Given the description of an element on the screen output the (x, y) to click on. 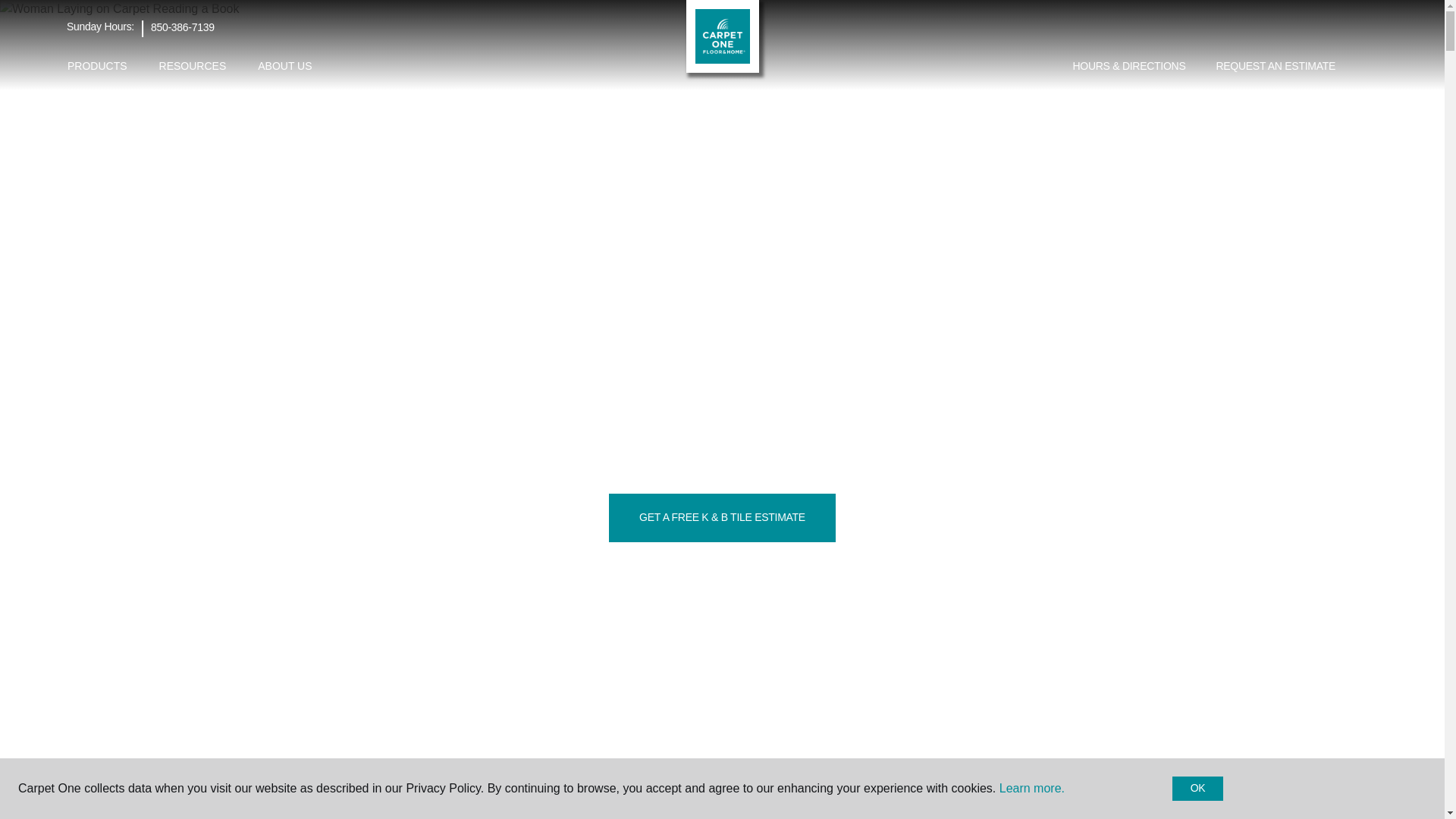
REQUEST AN ESTIMATE (1276, 66)
PRODUCTS (97, 66)
ABOUT US (284, 66)
850-386-7139 (182, 27)
RESOURCES (193, 66)
